Given the description of an element on the screen output the (x, y) to click on. 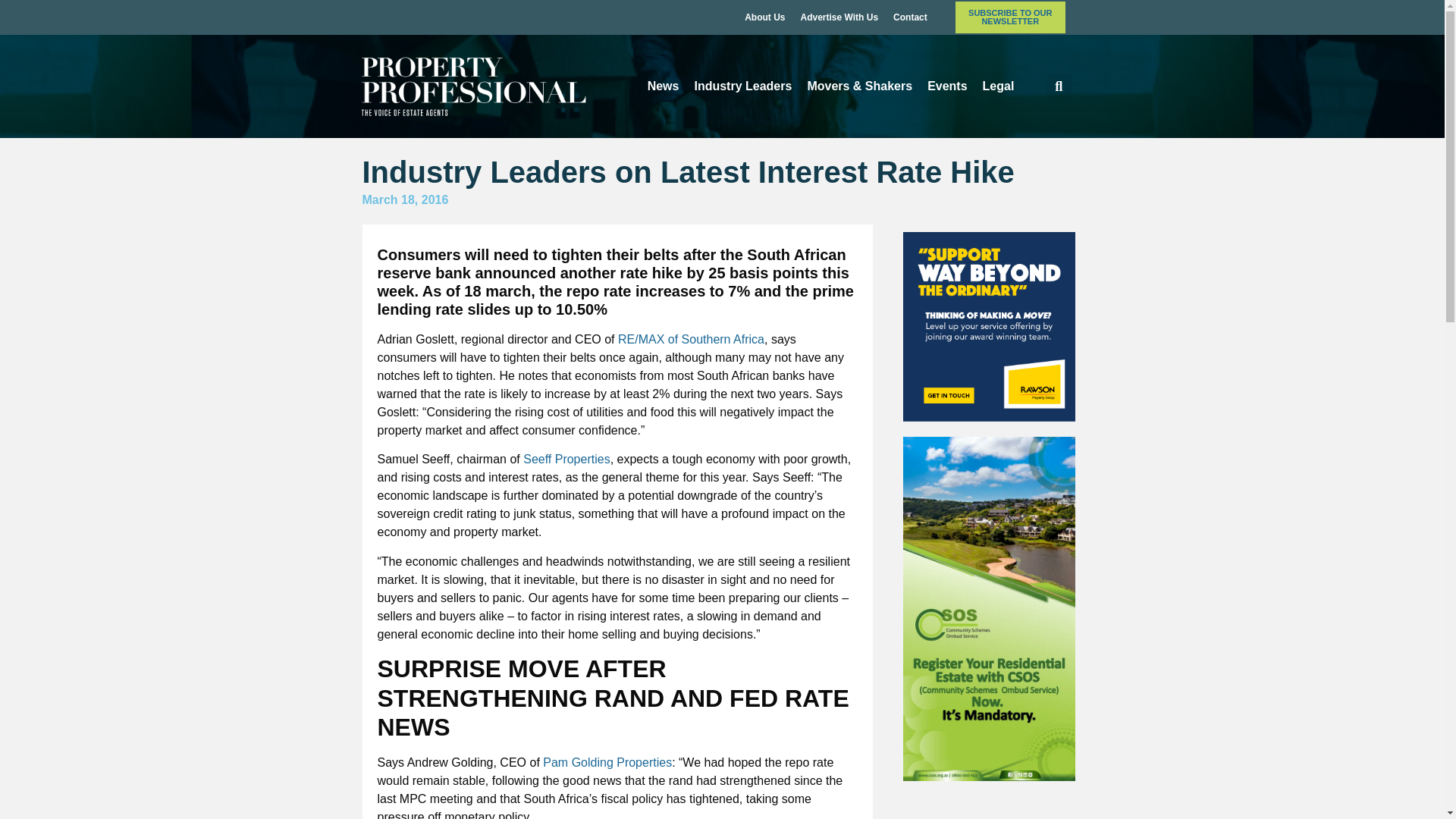
Seeff Properties (566, 459)
About Us (764, 17)
SUBSCRIBE TO OUR NEWSLETTER (1010, 17)
Legal (998, 86)
Industry Leaders (742, 86)
March 18, 2016 (405, 199)
Pam Golding Properties (607, 762)
News (663, 86)
Events (947, 86)
Advertise With Us (838, 17)
